Given the description of an element on the screen output the (x, y) to click on. 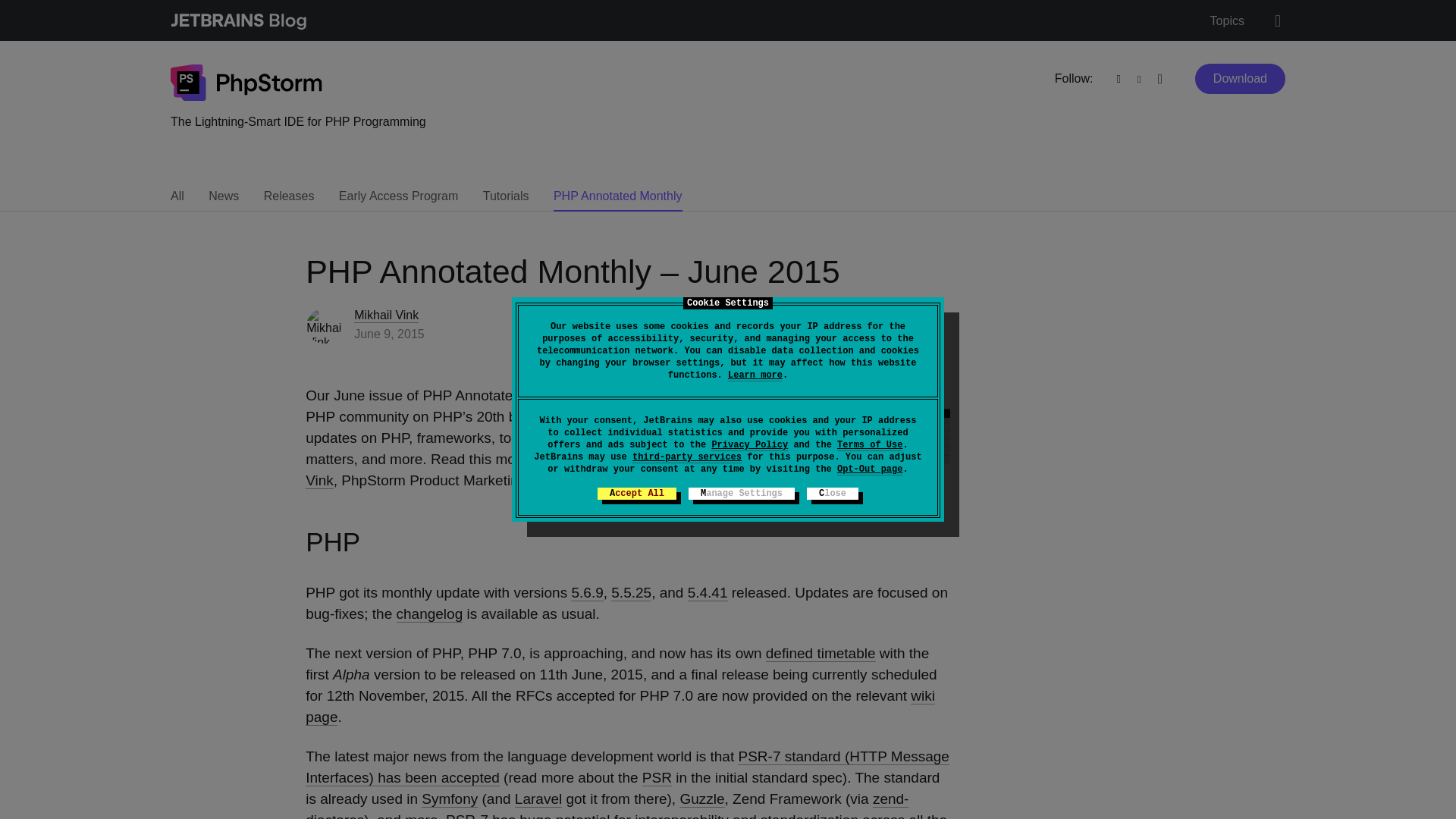
Topics (1226, 21)
